Given the description of an element on the screen output the (x, y) to click on. 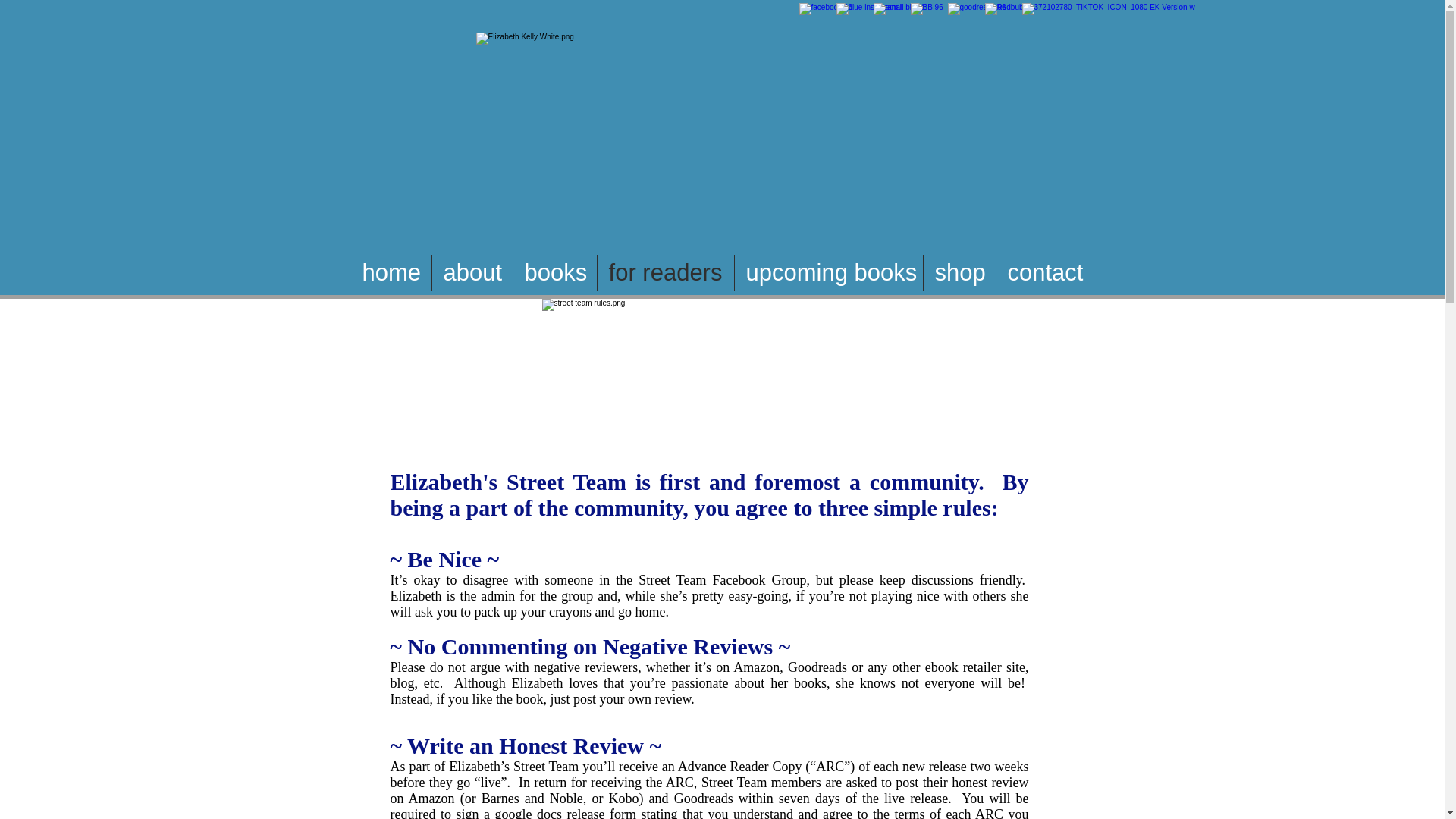
for readers (664, 272)
contact (1044, 272)
books (553, 272)
shop (959, 272)
about (472, 272)
upcoming books (827, 272)
home (390, 272)
